Given the description of an element on the screen output the (x, y) to click on. 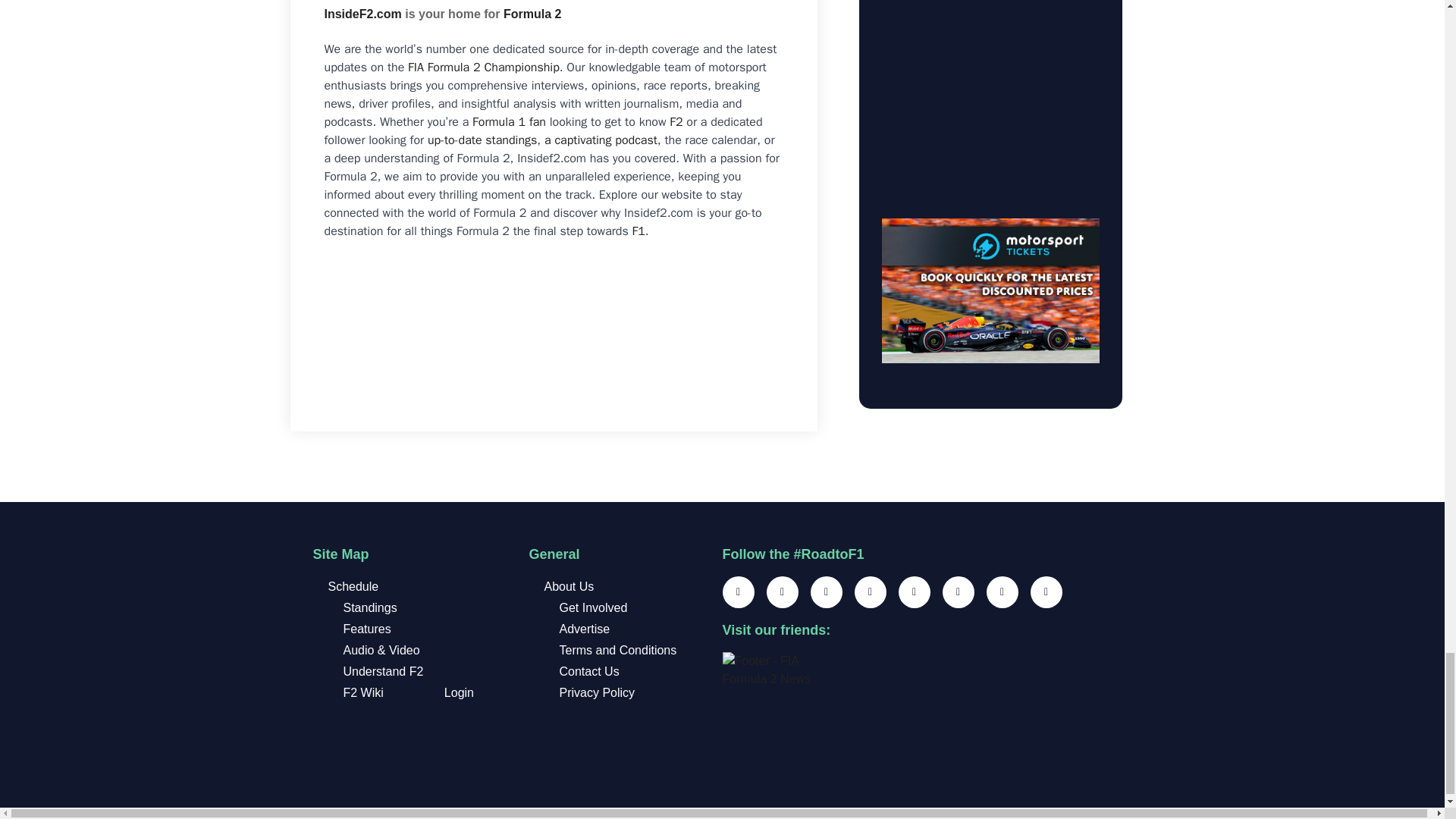
Formula 2 (531, 13)
FIA Formula 2 Championship (483, 67)
InsideF2.com (362, 13)
